Given the description of an element on the screen output the (x, y) to click on. 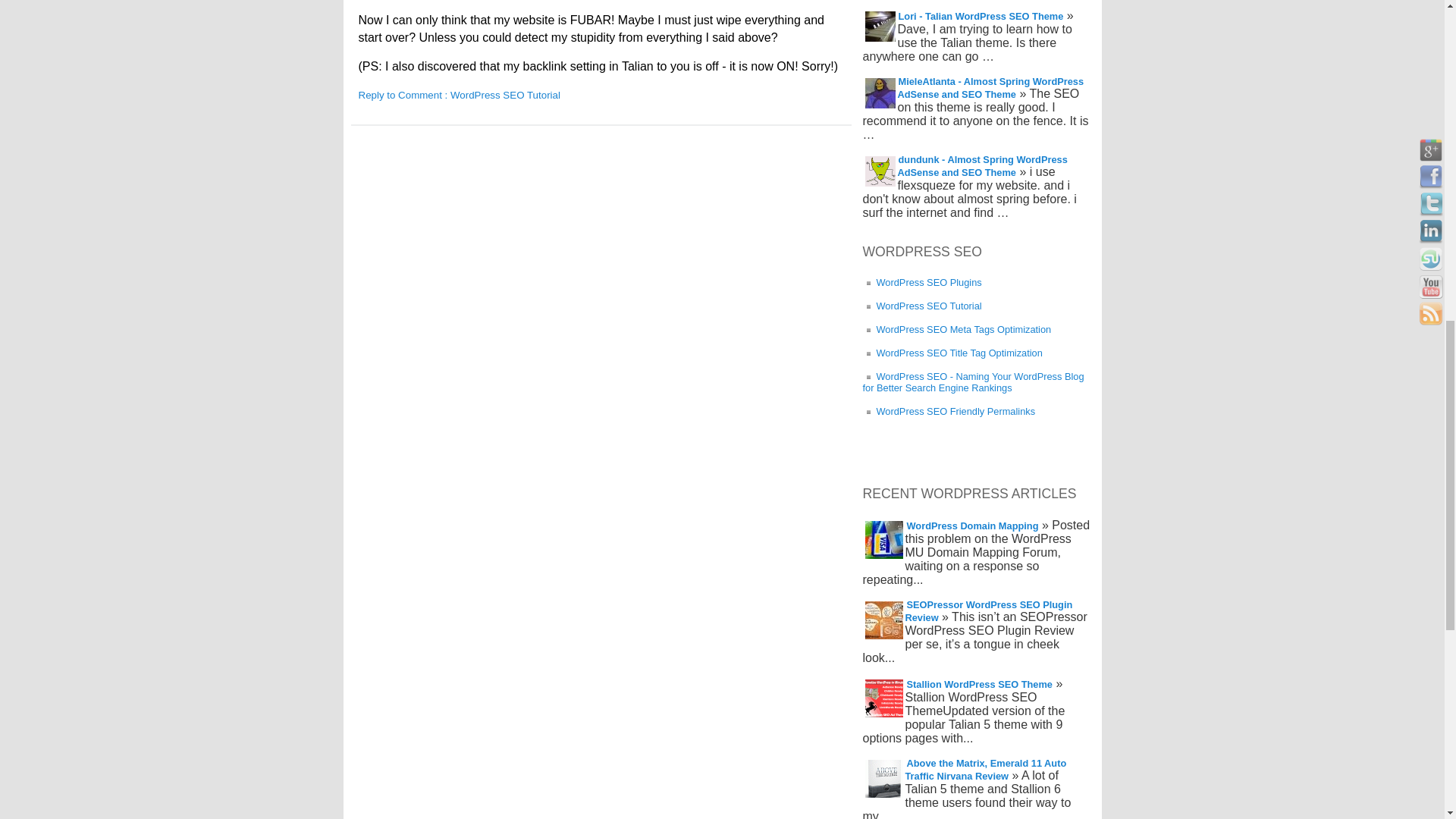
WordPress SEO Tutorial (922, 305)
SEOPressor WordPress SEO Plugin Review (989, 611)
Stallion WordPress SEO Theme (978, 684)
WordPress Domain Mapping (971, 525)
Lori - Talian WordPress SEO Theme (981, 16)
WordPress SEO Meta Tags Optimization (957, 329)
Stallion WordPress SEO Theme (978, 684)
WordPress Domain Mapping (971, 525)
Reply to Comment : WordPress SEO Tutorial (458, 94)
WordPress SEO Friendly Permalinks (949, 411)
Above the Matrix, Emerald 11 Auto Traffic Nirvana Review (986, 769)
WordPress SEO Title Tag Optimization (952, 352)
MieleAtlanta - Almost Spring WordPress AdSense and SEO Theme (991, 87)
WordPress SEO Plugins (922, 282)
